Given the description of an element on the screen output the (x, y) to click on. 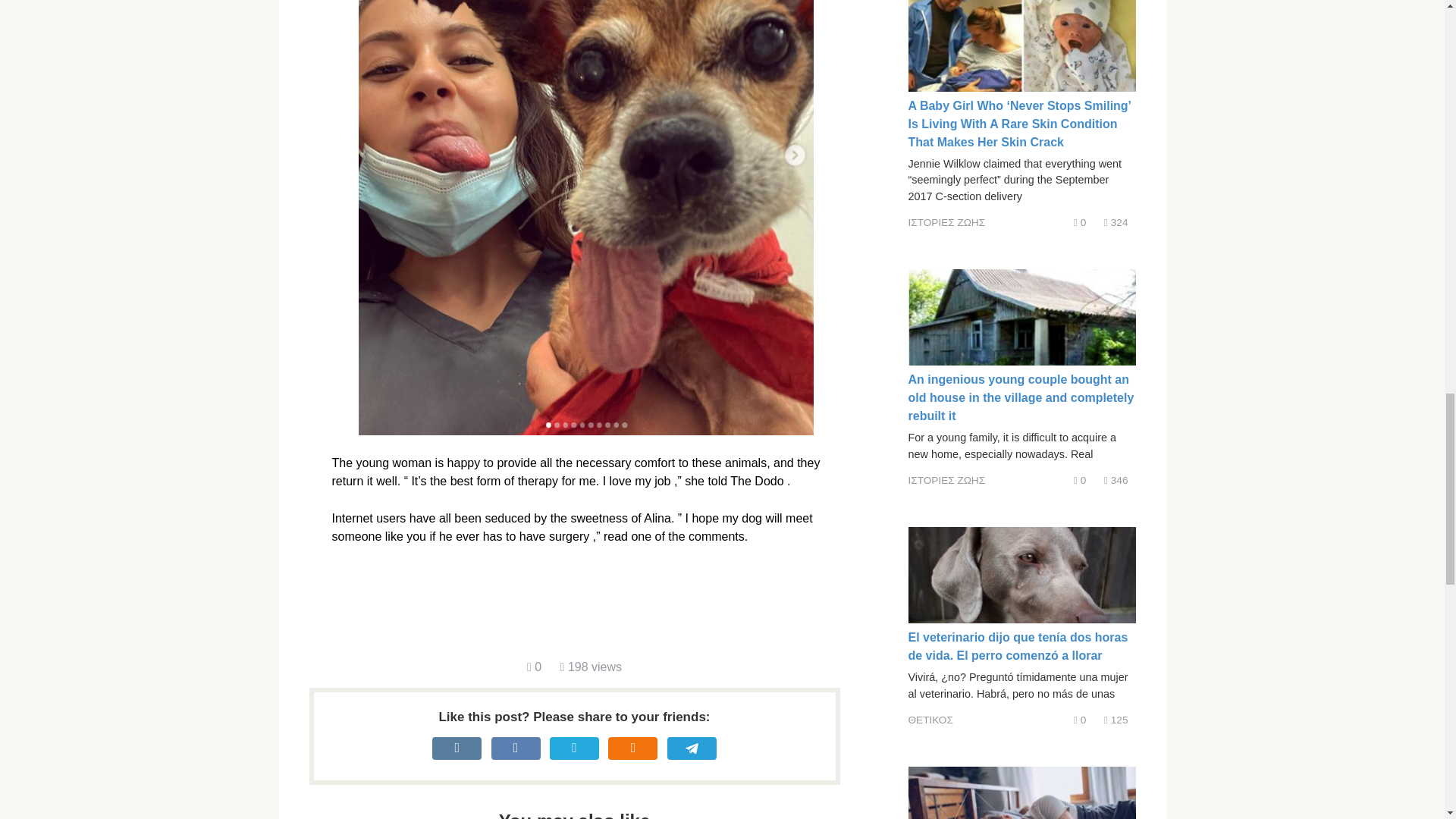
Comments (534, 666)
sweetness (598, 517)
Views (590, 666)
The Dodo (756, 481)
